Given the description of an element on the screen output the (x, y) to click on. 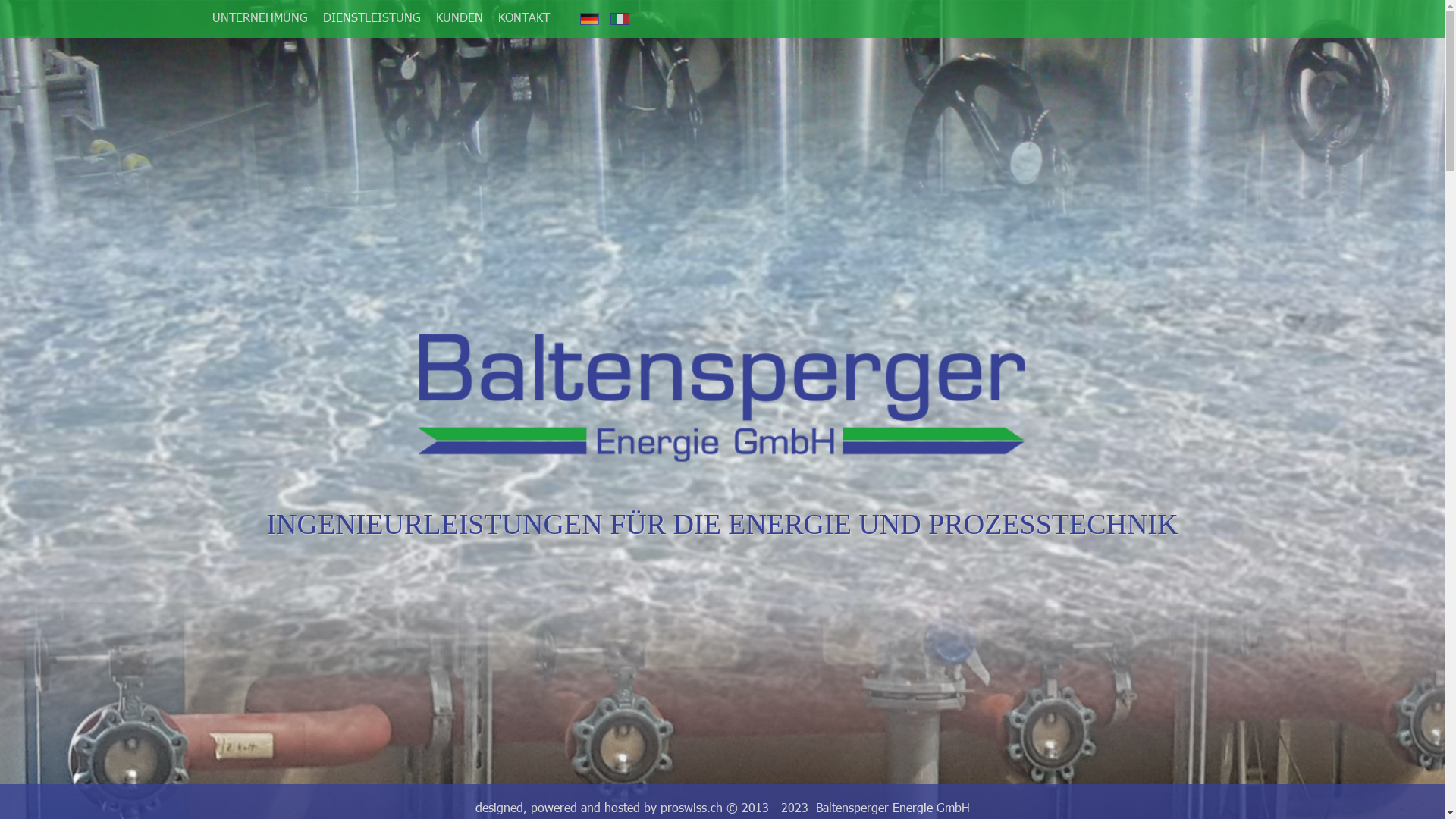
Sprachen Element type: hover (619, 17)
DIENSTLEISTUNG Element type: text (371, 17)
KONTAKT Element type: text (523, 17)
KUNDEN Element type: text (459, 17)
UNTERNEHMUNG Element type: text (259, 17)
Sprachen Element type: hover (589, 17)
proswiss.ch Element type: text (690, 807)
